Given the description of an element on the screen output the (x, y) to click on. 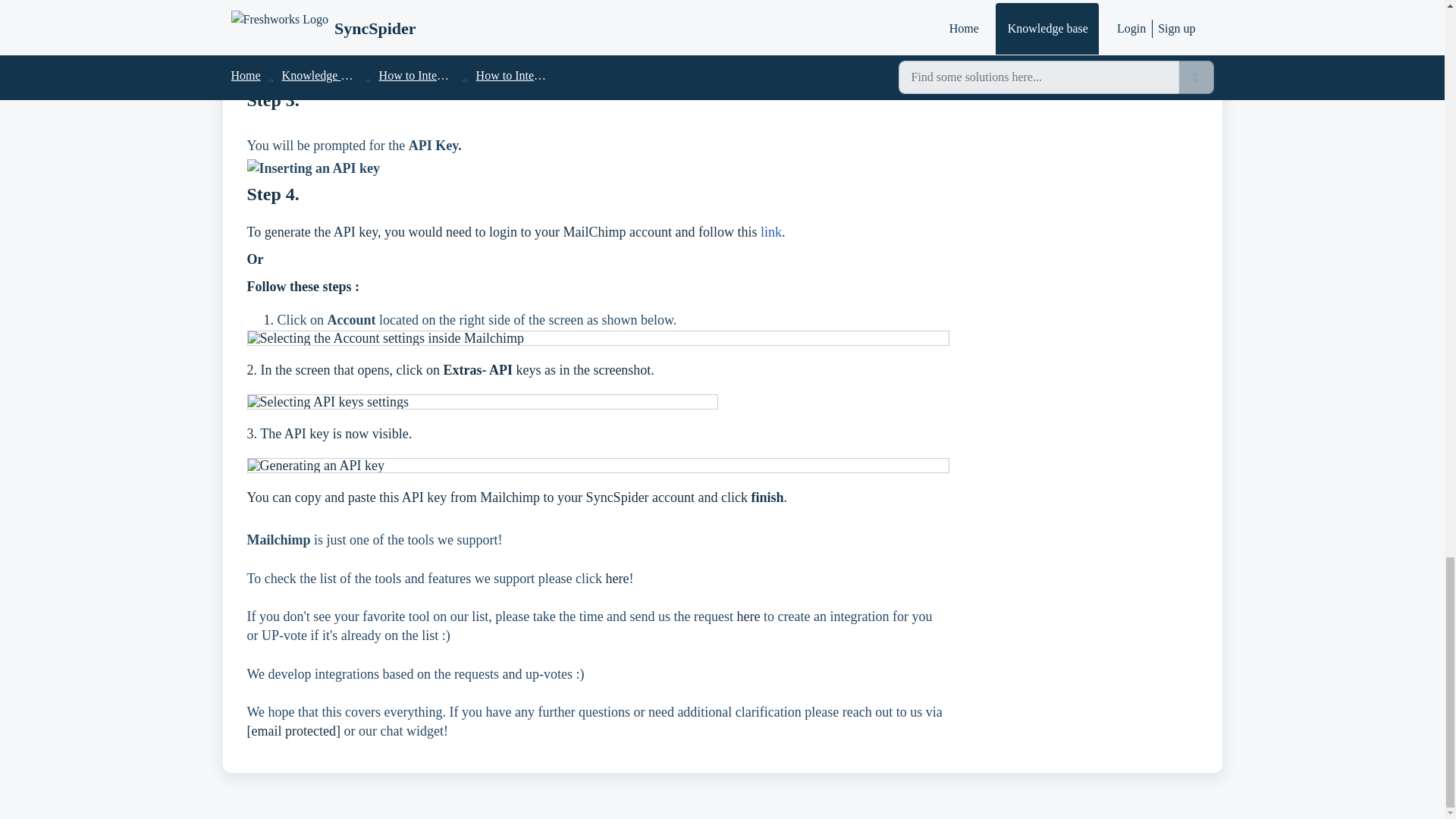
link (770, 231)
here (616, 578)
here (748, 616)
